Given the description of an element on the screen output the (x, y) to click on. 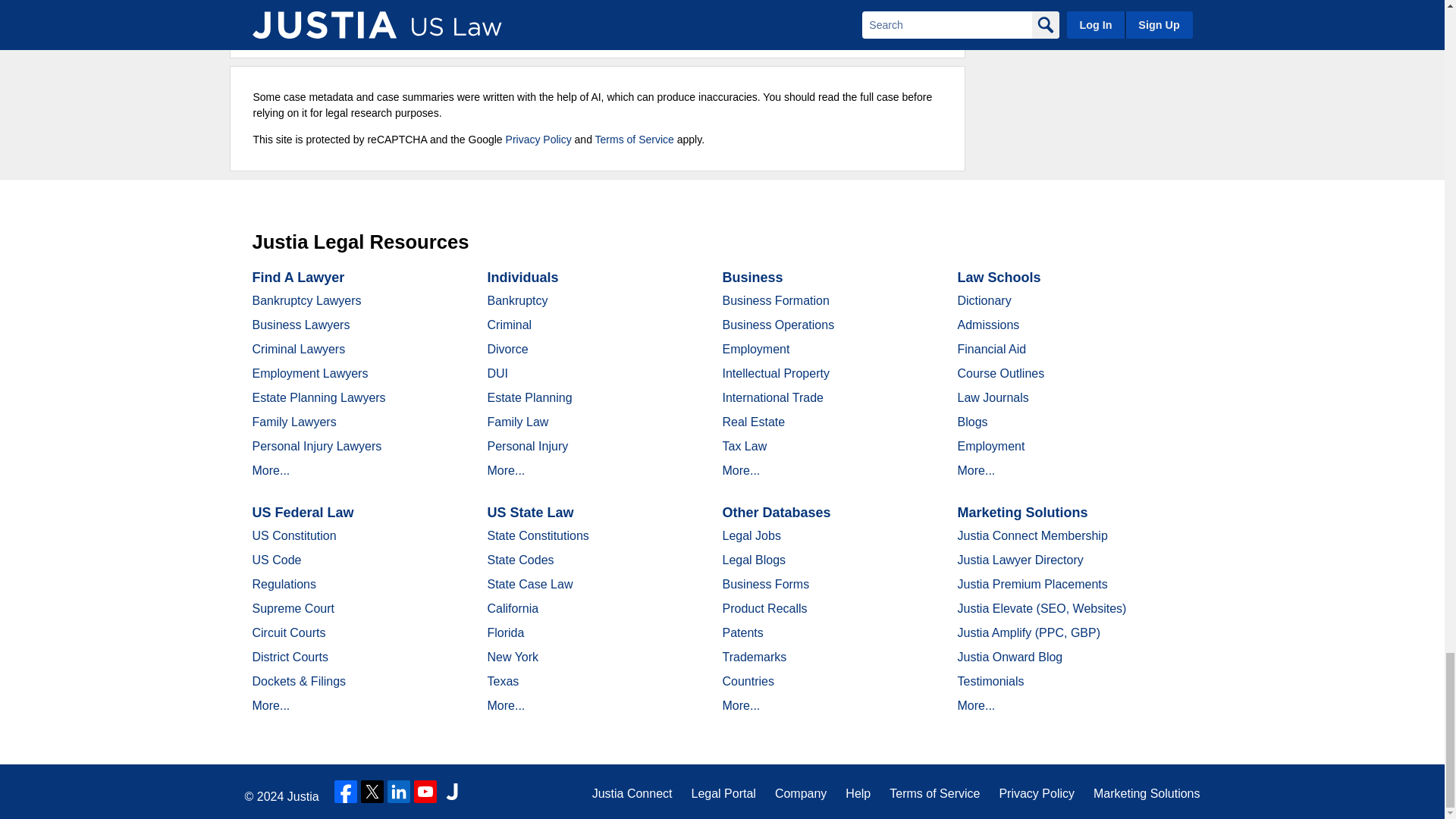
Facebook (345, 791)
Twitter (372, 791)
LinkedIn (398, 791)
